Given the description of an element on the screen output the (x, y) to click on. 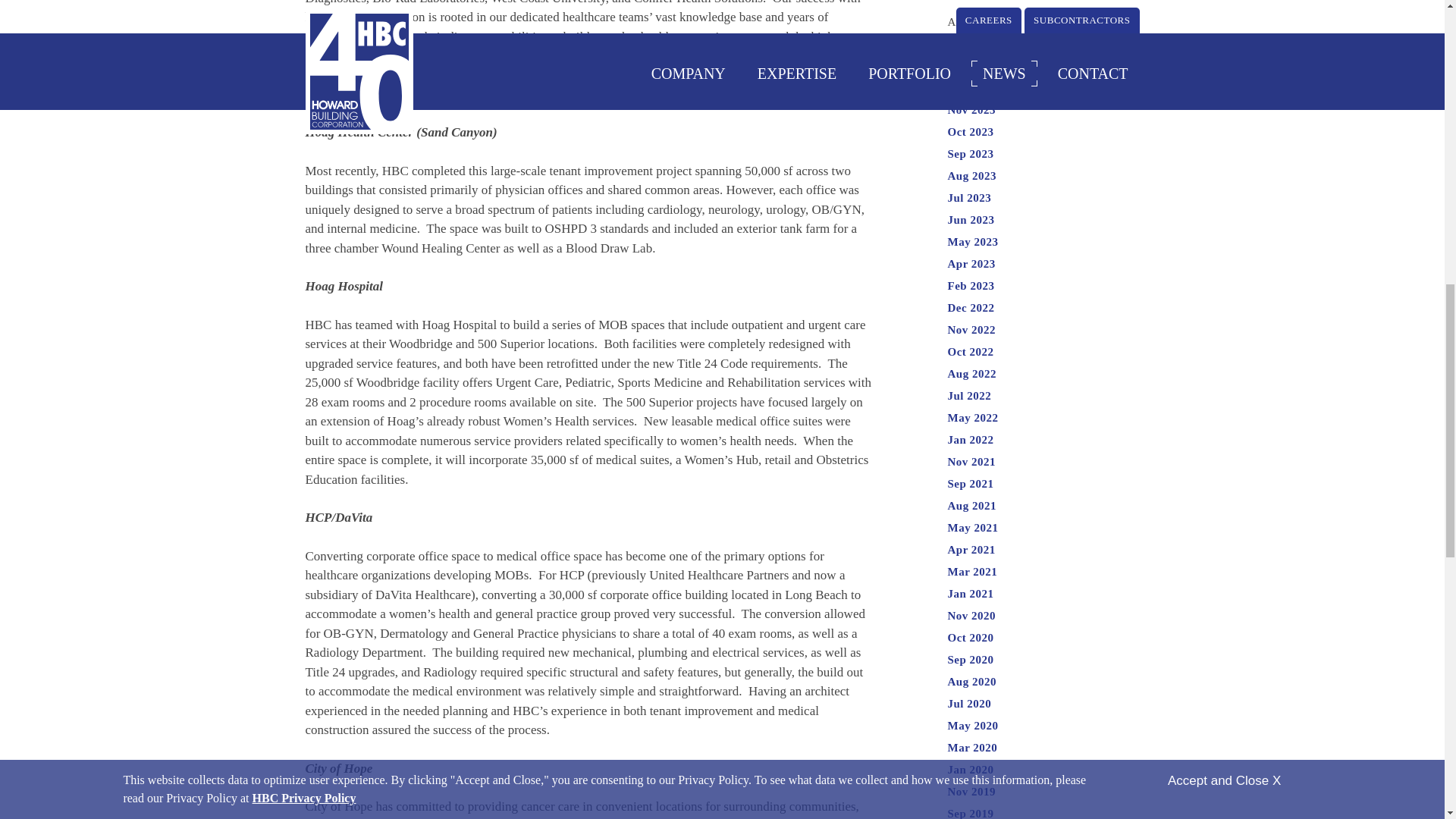
Feb 2023 (970, 285)
Dec 2023 (970, 87)
Feb 2024 (970, 65)
Jul 2023 (969, 197)
Jul 2022 (969, 395)
Apr 2024 (971, 43)
Sep 2023 (970, 153)
Dec 2022 (970, 307)
May 2023 (972, 241)
Oct 2023 (970, 132)
